Given the description of an element on the screen output the (x, y) to click on. 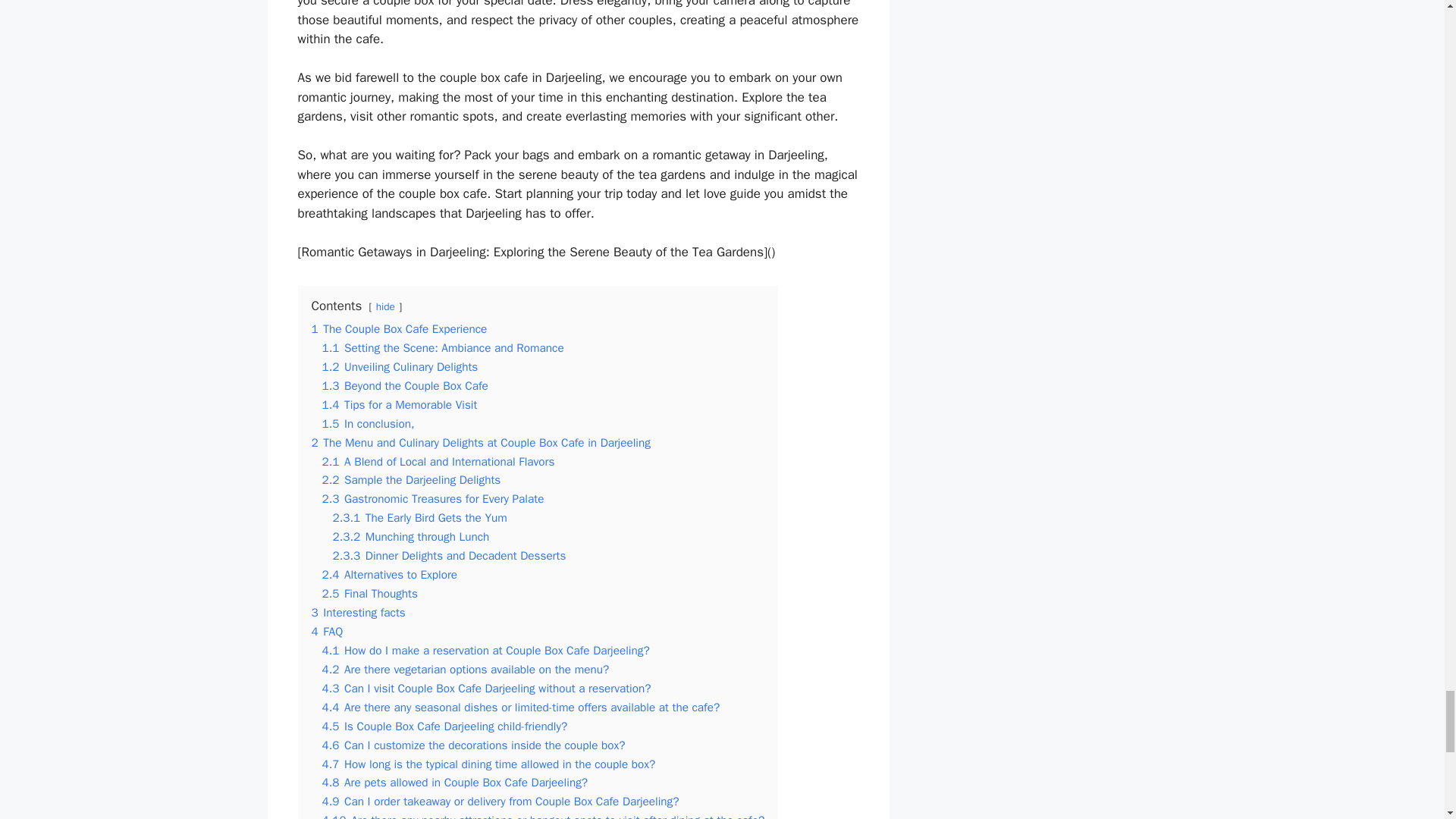
1 The Couple Box Cafe Experience (398, 328)
hide (384, 306)
2.1 A Blend of Local and International Flavors (437, 460)
4.5 Is Couple Box Cafe Darjeeling child-friendly? (444, 726)
1.5 In conclusion, (367, 423)
1.4 Tips for a Memorable Visit (399, 404)
2.4 Alternatives to Explore (389, 574)
1.1 Setting the Scene: Ambiance and Romance (442, 347)
2.3 Gastronomic Treasures for Every Palate (432, 498)
1.2 Unveiling Culinary Delights (399, 366)
3 Interesting facts (357, 612)
2.3.1 The Early Bird Gets the Yum (418, 517)
